Given the description of an element on the screen output the (x, y) to click on. 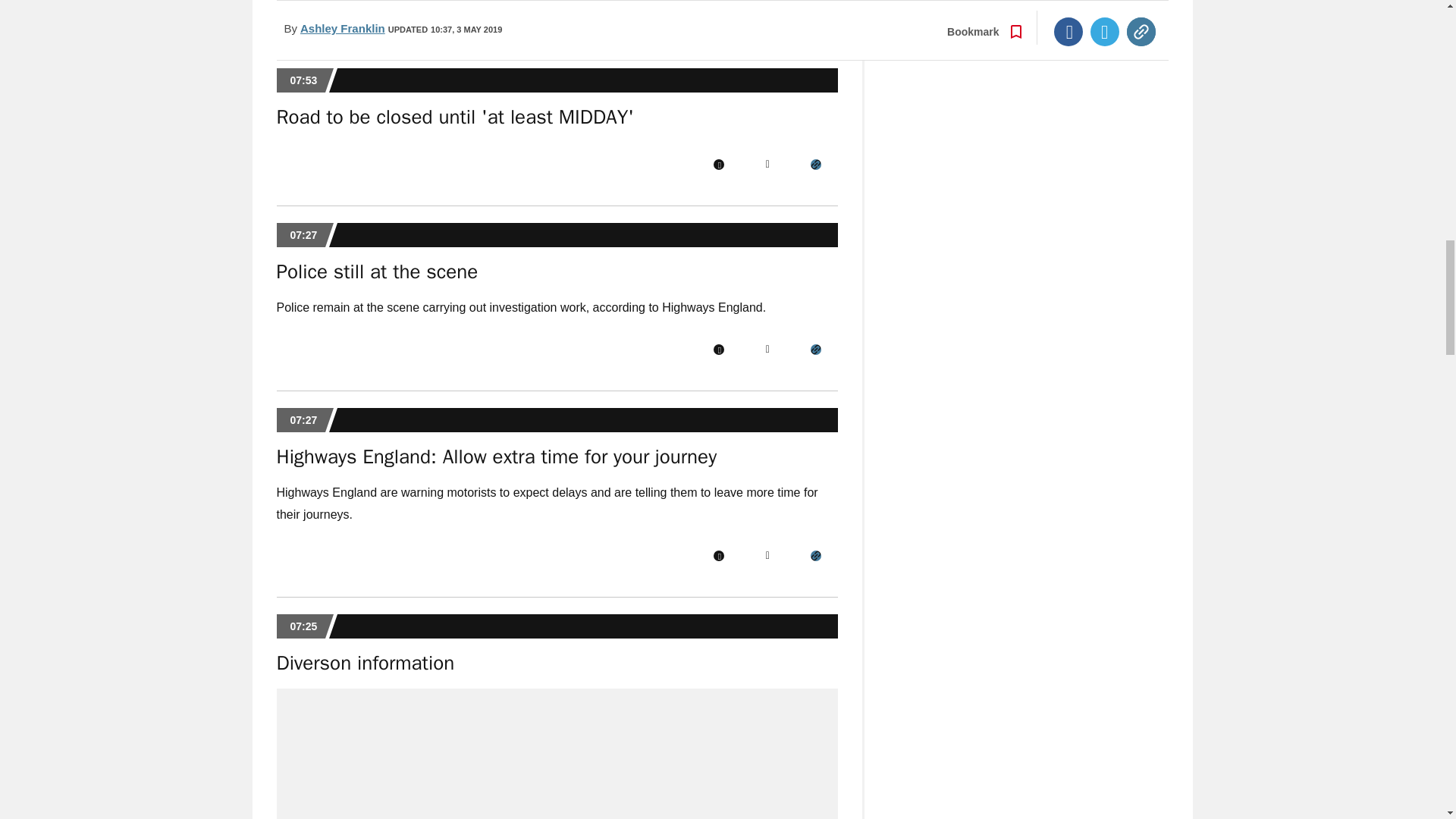
Facebook (718, 555)
Twitter (767, 163)
Twitter (767, 348)
Facebook (718, 348)
Twitter (767, 555)
Facebook (718, 163)
